Given the description of an element on the screen output the (x, y) to click on. 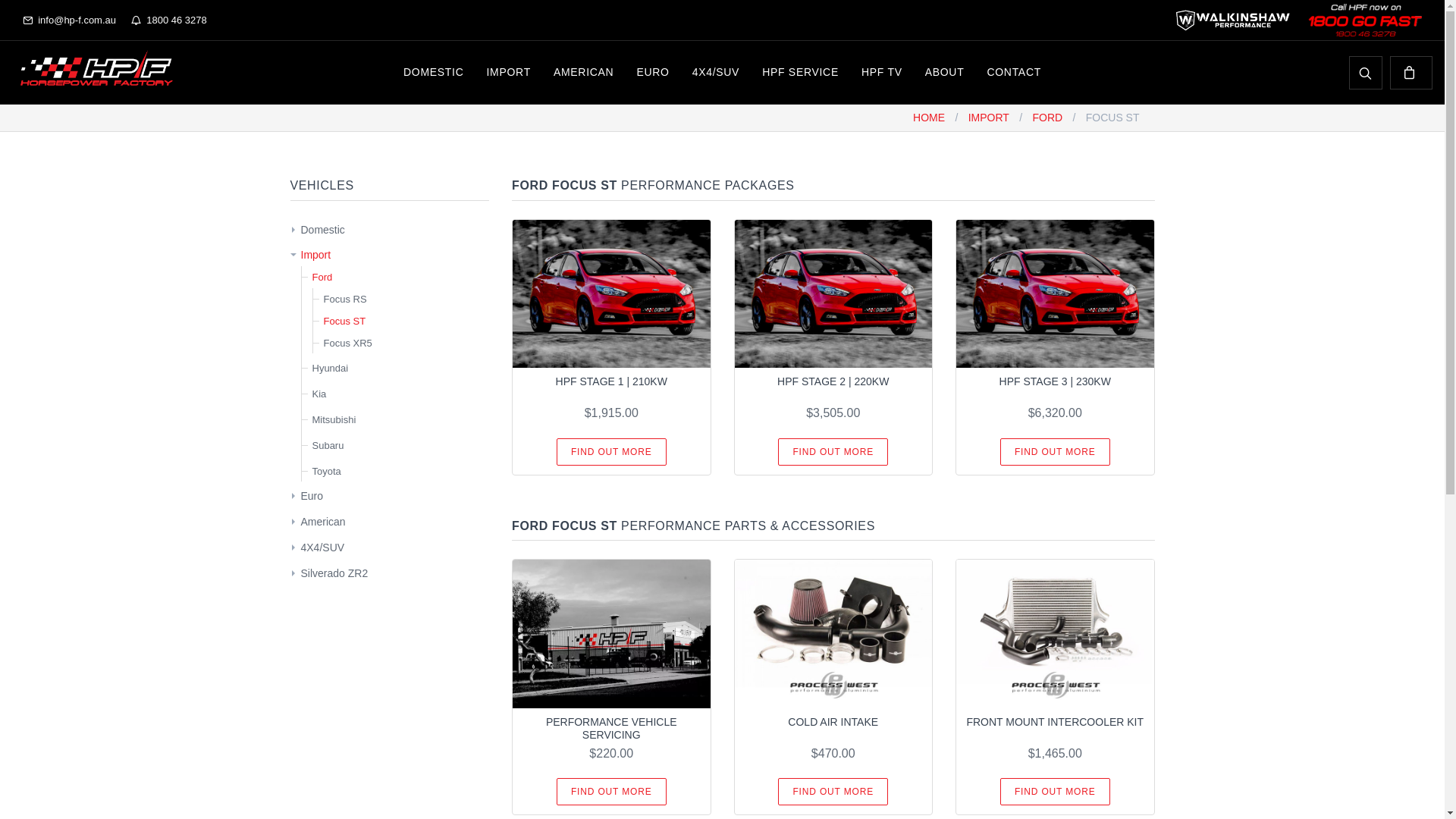
4X4/SUV Element type: text (715, 71)
Silverado ZR2 Element type: text (333, 573)
Toyota Element type: text (326, 471)
Mitsubishi Element type: text (334, 419)
Focus XR5 Element type: text (347, 342)
HPF STAGE 1 | 210KW Element type: text (611, 381)
  1800 46 3278 Element type: text (169, 20)
FORD Element type: text (1047, 117)
Hyundai Element type: text (330, 367)
ABOUT Element type: text (944, 71)
EURO Element type: text (652, 71)
American Element type: text (322, 521)
Kia Element type: text (319, 393)
Focus RS Element type: text (344, 298)
FIND OUT MORE Element type: text (611, 451)
HPF SERVICE Element type: text (800, 71)
Subaru Element type: text (328, 445)
FIND OUT MORE Element type: text (1055, 451)
FIND OUT MORE Element type: text (1055, 791)
COLD AIR INTAKE Element type: text (832, 721)
FIND OUT MORE Element type: text (833, 451)
FIND OUT MORE Element type: text (833, 791)
Euro Element type: text (311, 495)
DOMESTIC Element type: text (433, 71)
HPF STAGE 3 | 230KW Element type: text (1054, 381)
Focus ST Element type: text (344, 320)
  info@hp-f.com.au Element type: text (69, 20)
IMPORT Element type: text (988, 117)
CONTACT Element type: text (1013, 71)
AMERICAN Element type: text (583, 71)
FRONT MOUNT INTERCOOLER KIT Element type: text (1054, 721)
HPF STAGE 2 | 220KW Element type: text (832, 381)
HOME Element type: text (928, 117)
Ford Element type: text (322, 276)
PERFORMANCE VEHICLE SERVICING Element type: text (611, 728)
HPF TV Element type: text (881, 71)
Import Element type: text (315, 254)
4X4/SUV Element type: text (322, 547)
IMPORT Element type: text (508, 71)
Domestic Element type: text (322, 229)
FIND OUT MORE Element type: text (611, 791)
